Given the description of an element on the screen output the (x, y) to click on. 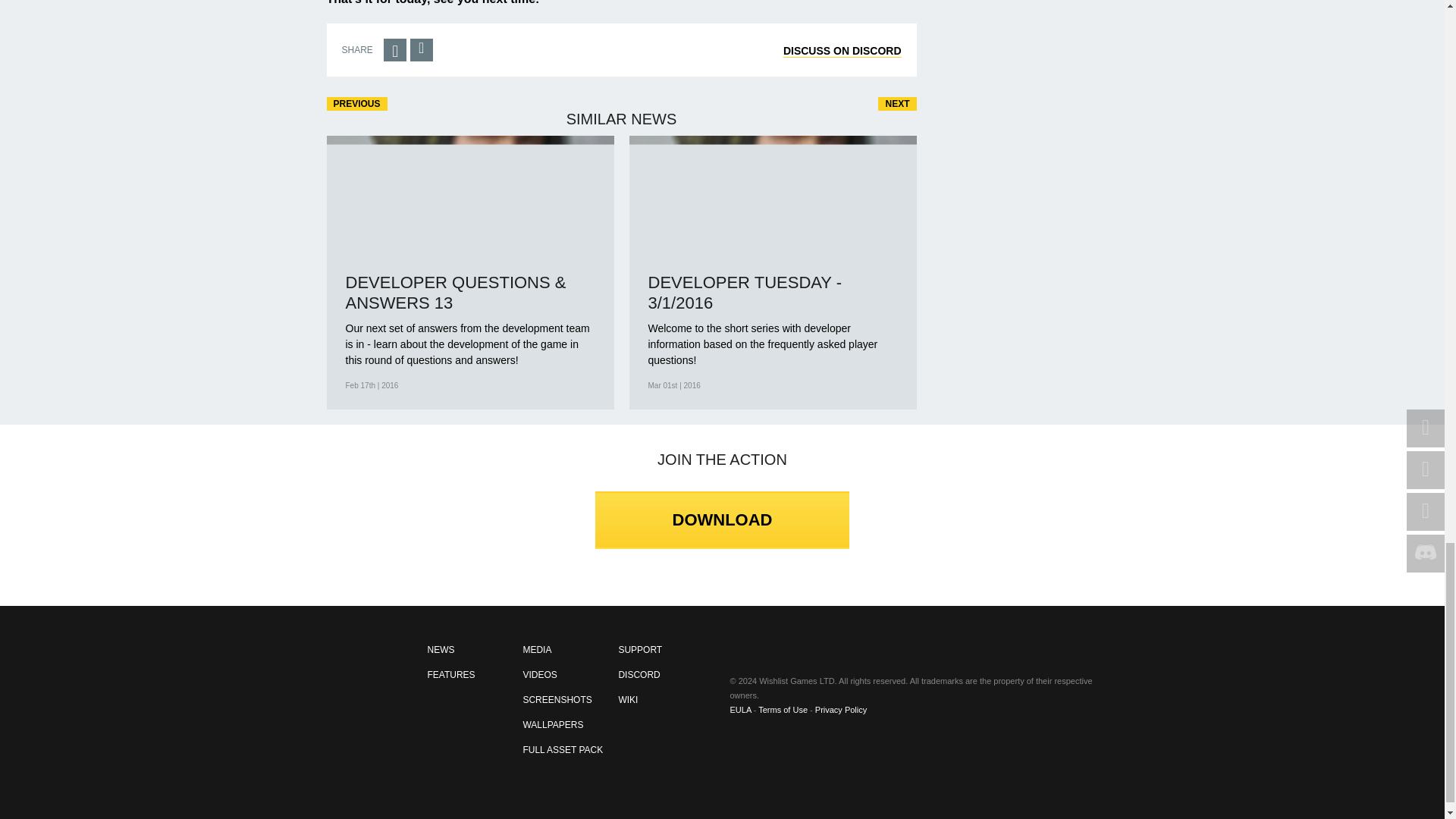
DISCUSS ON DISCORD (842, 51)
PREVIOUS (356, 103)
NEXT (896, 103)
